Given the description of an element on the screen output the (x, y) to click on. 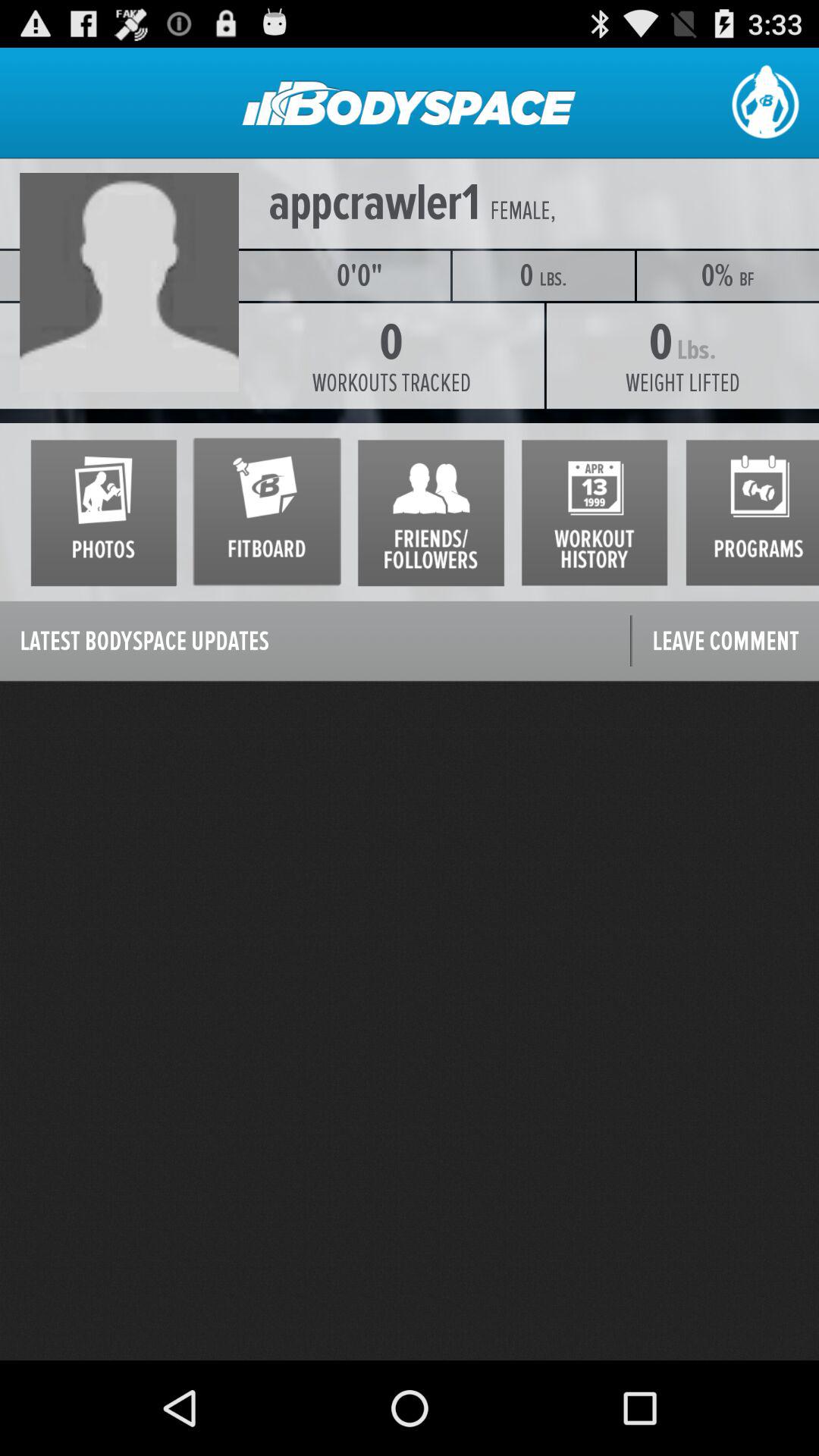
choose the icon next to the , icon (519, 210)
